Given the description of an element on the screen output the (x, y) to click on. 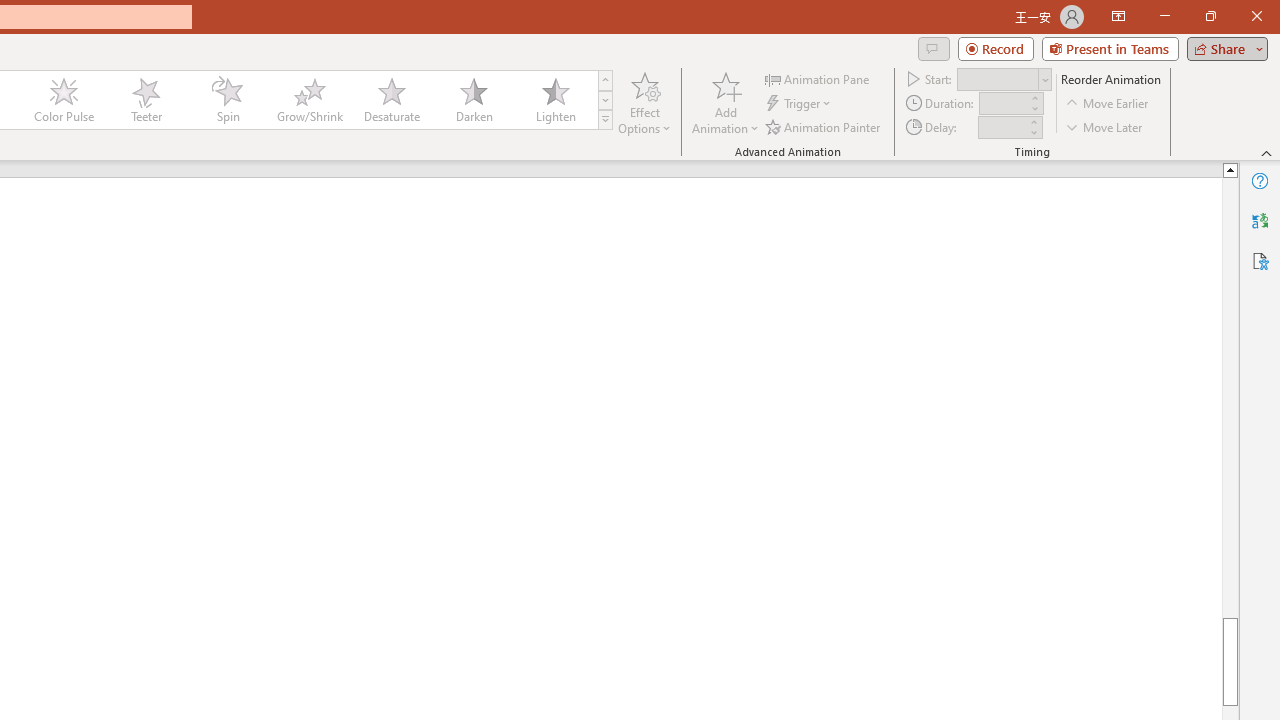
Color Pulse (63, 100)
Effect Options (644, 102)
Animation Pane (818, 78)
Move Later (1105, 126)
Add Animation (725, 102)
